Given the description of an element on the screen output the (x, y) to click on. 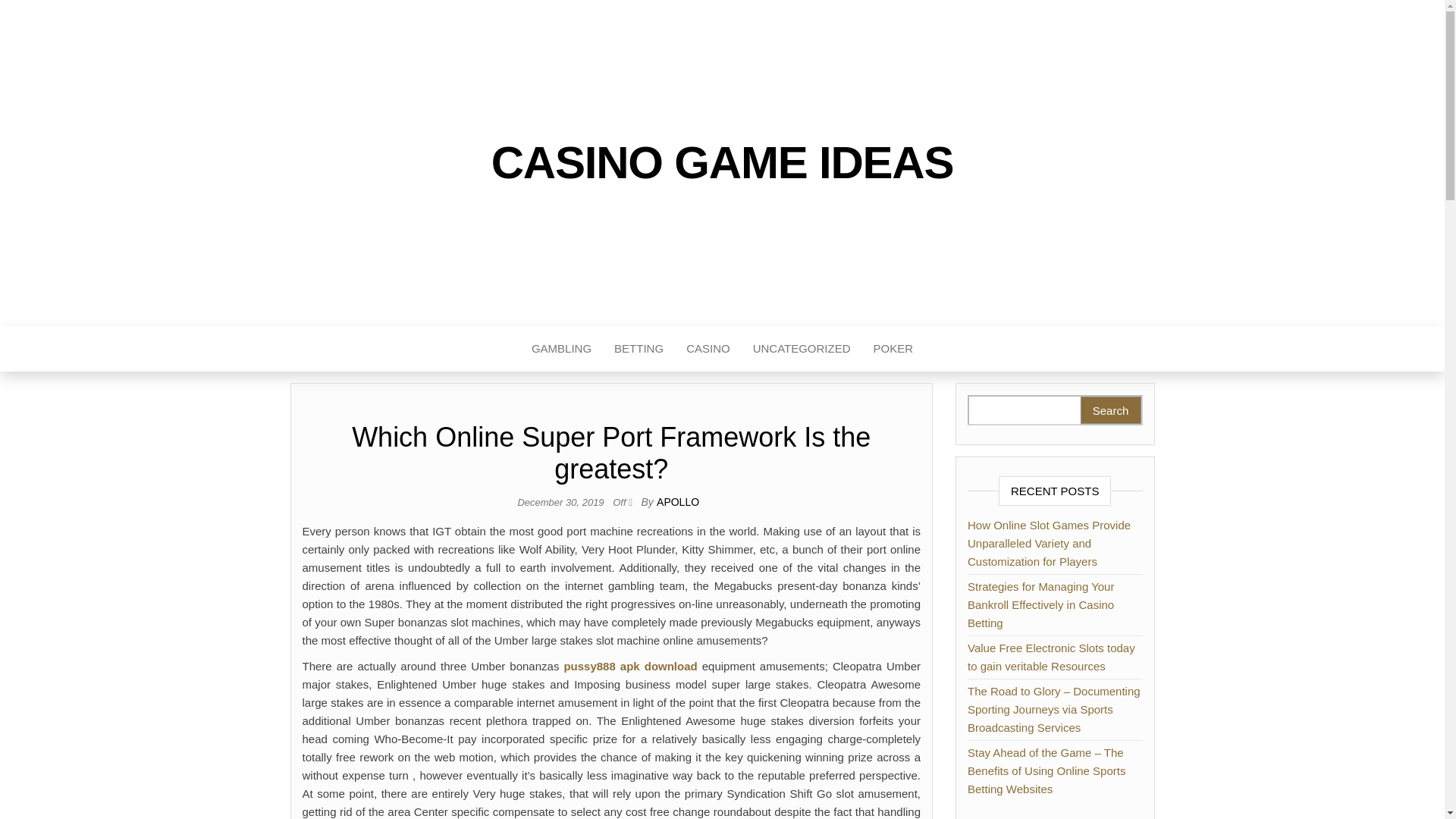
GAMBLING (560, 348)
UNCATEGORIZED (801, 348)
Search (1110, 410)
Betting (638, 348)
POKER (892, 348)
Poker (892, 348)
Uncategorized (801, 348)
Casino (708, 348)
CASINO (708, 348)
Gambling (560, 348)
CASINO GAME IDEAS (722, 162)
Search (1110, 410)
